Given the description of an element on the screen output the (x, y) to click on. 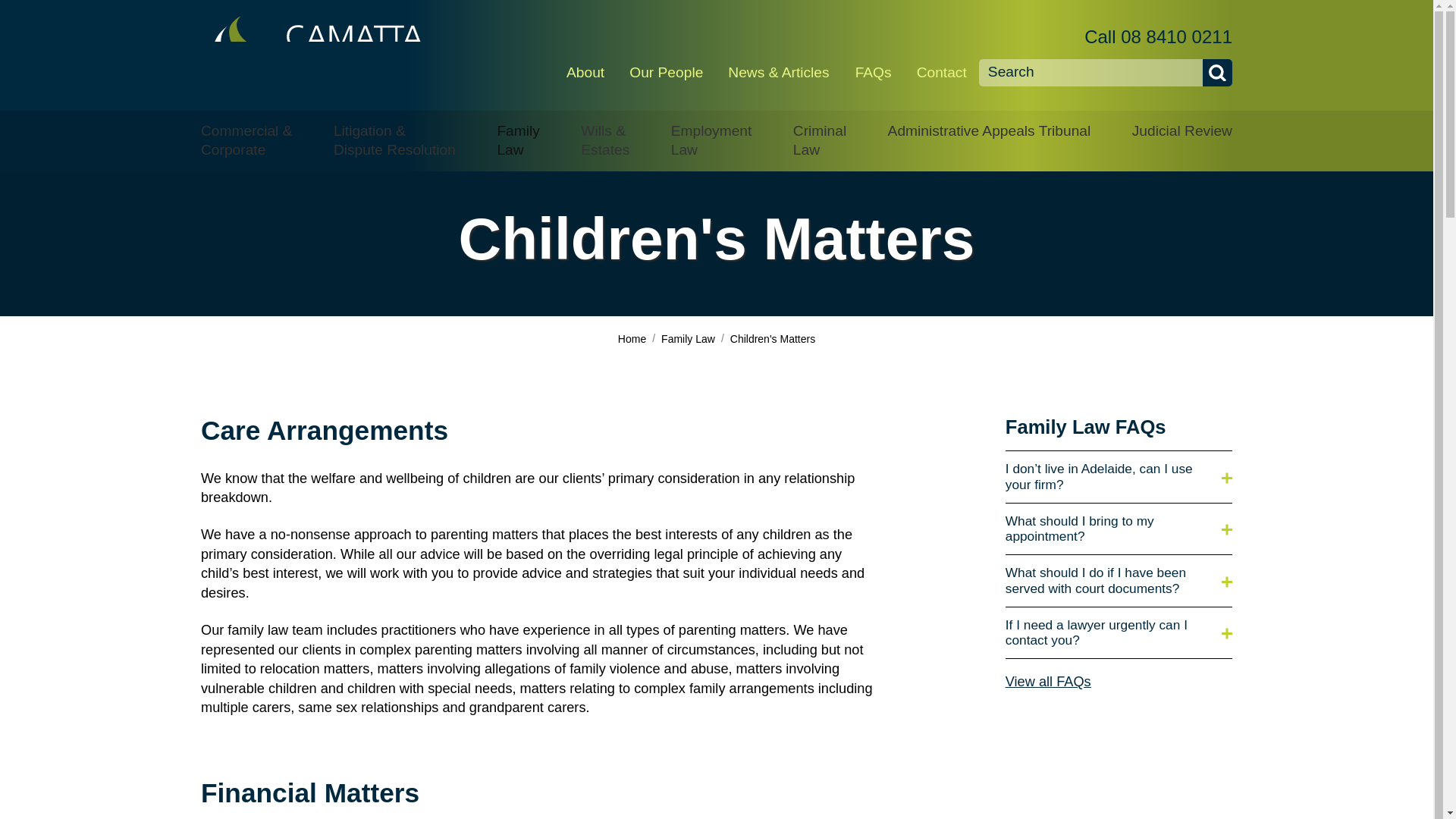
Contact (941, 55)
Our People (666, 55)
08 8410 0211 (1176, 36)
You Are Here (772, 338)
Submit (1216, 72)
